Given the description of an element on the screen output the (x, y) to click on. 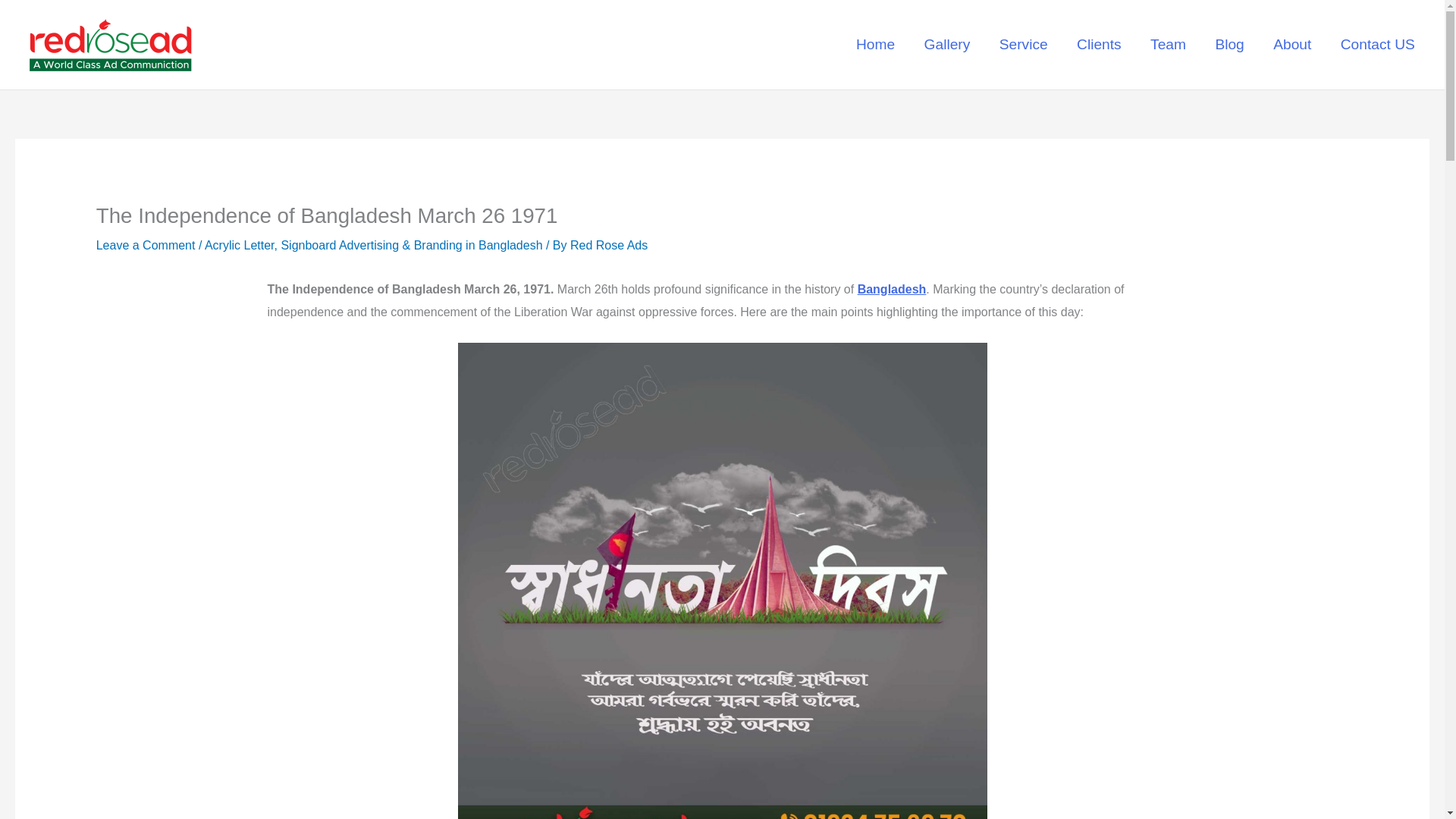
Bangladesh (891, 288)
Clients (1098, 44)
View all posts by Red Rose Ads (608, 245)
About (1292, 44)
Service (1022, 44)
Red Rose Ads (608, 245)
Contact US (1376, 44)
Team (1167, 44)
Acrylic Letter (240, 245)
Gallery (946, 44)
Leave a Comment (145, 245)
Blog (1229, 44)
Home (875, 44)
